Given the description of an element on the screen output the (x, y) to click on. 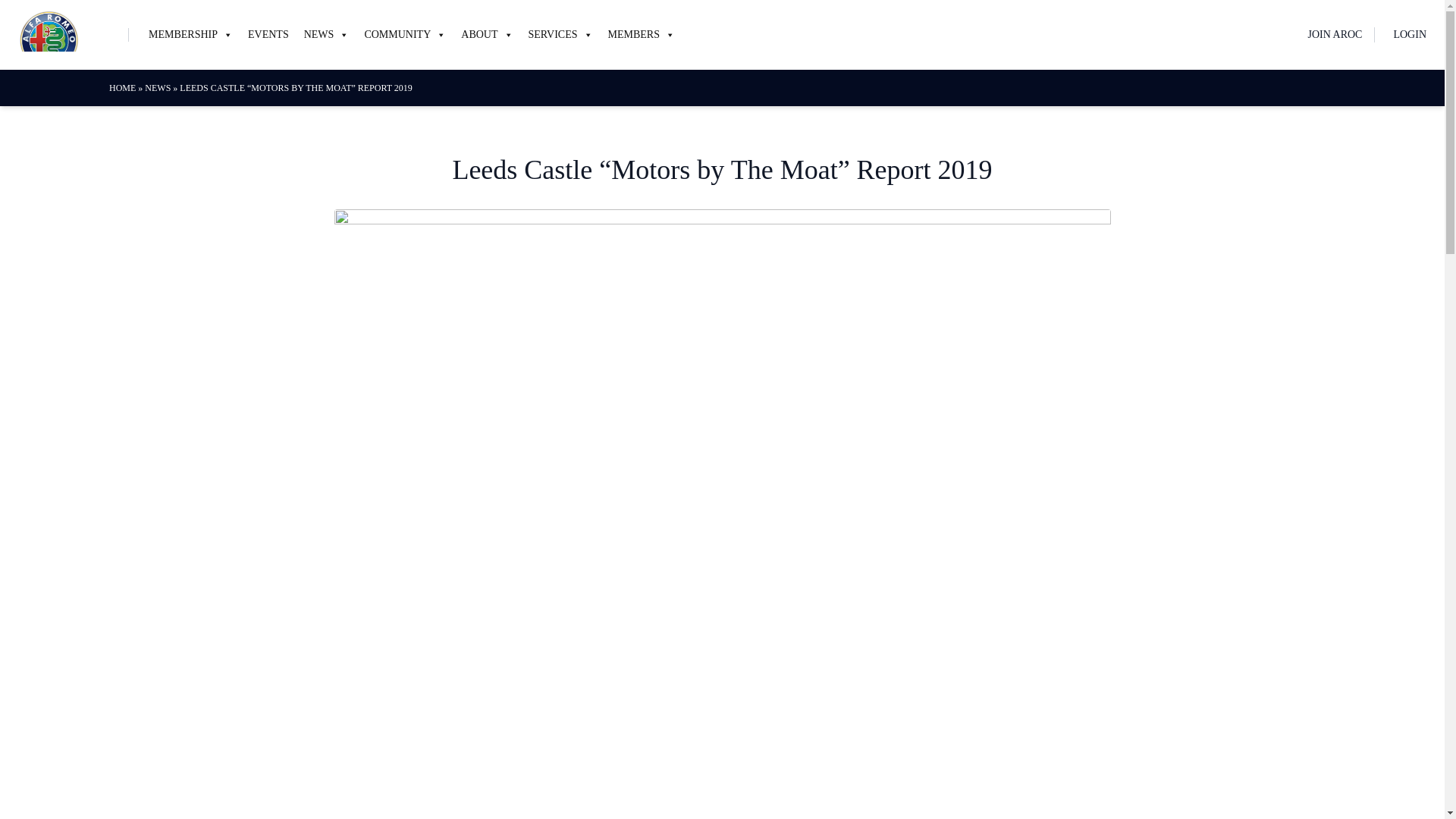
Login (435, 555)
SERVICES (559, 34)
Search (32, 13)
ABOUT (485, 34)
MEMBERSHIP (190, 34)
COMMUNITY (404, 34)
